Given the description of an element on the screen output the (x, y) to click on. 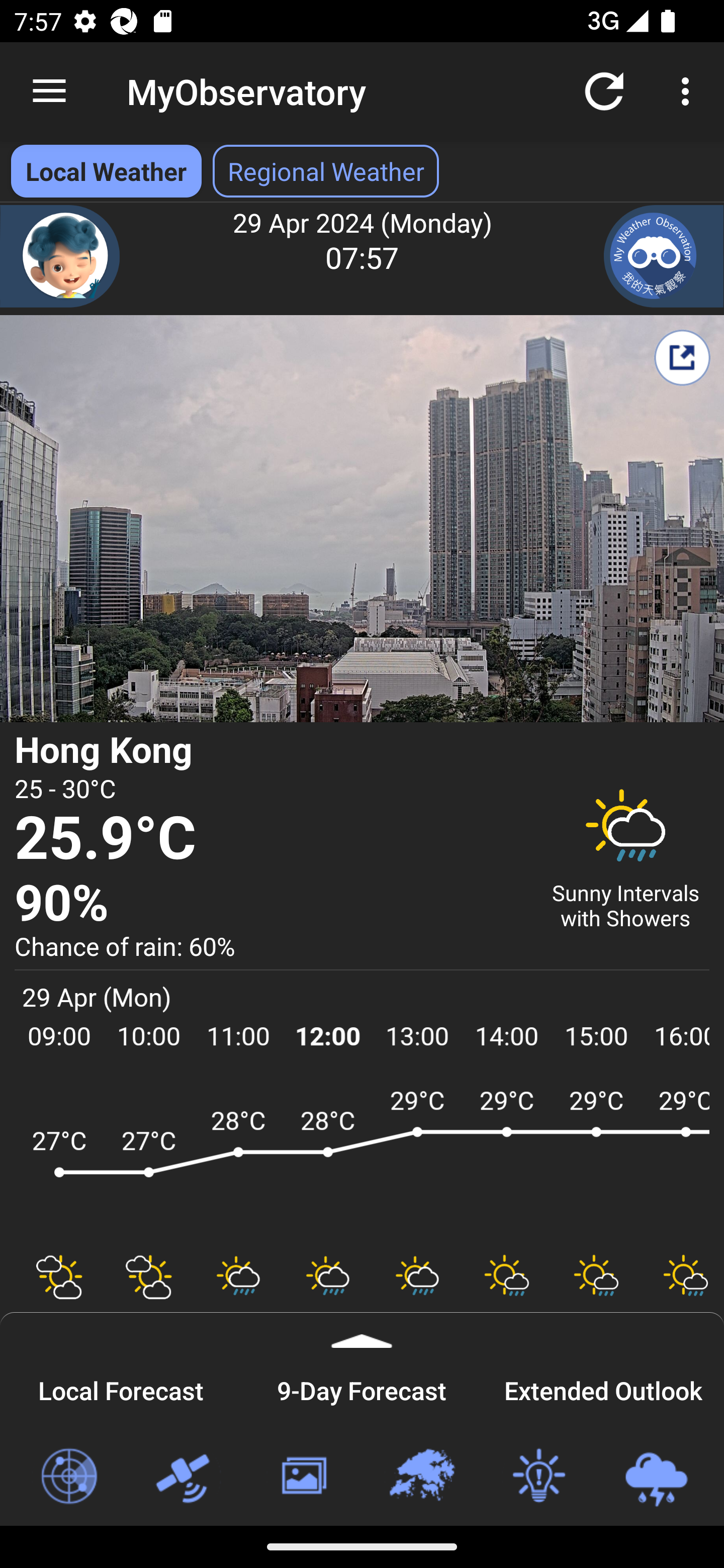
Navigate up (49, 91)
Refresh (604, 90)
More options (688, 90)
Local Weather Local Weather selected (105, 170)
Regional Weather Select Regional Weather (325, 170)
Chatbot (60, 256)
My Weather Observation (663, 256)
Share My Weather Report (681, 357)
25.9°C Temperature
25.9 degree Celsius (270, 839)
90% Relative Humidity
90 percent (270, 903)
ARWF (361, 1160)
Expand (362, 1330)
Local Forecast (120, 1387)
Extended Outlook (603, 1387)
Radar Images (68, 1476)
Satellite Images (185, 1476)
Weather Photos (302, 1476)
Regional Weather (420, 1476)
Weather Tips (537, 1476)
Loc-based Rain & Lightning Forecast (655, 1476)
